Given the description of an element on the screen output the (x, y) to click on. 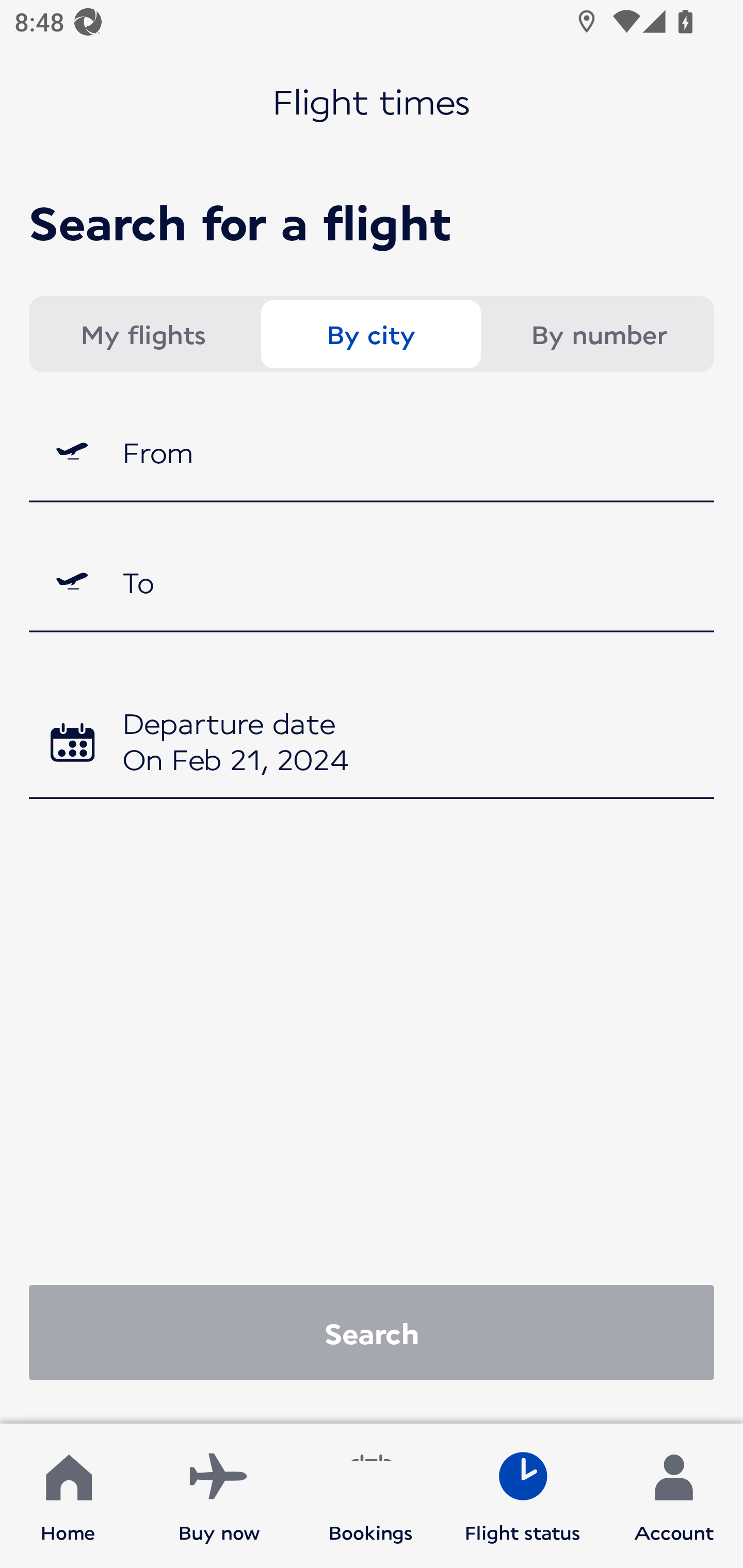
My flights (142, 334)
By city (370, 334)
By number (598, 334)
From (371, 451)
To (371, 581)
On Feb 21, 2024 Departure date (371, 744)
Search (371, 1331)
Home (68, 1495)
Buy now (219, 1495)
Bookings (370, 1495)
Account (674, 1495)
